Given the description of an element on the screen output the (x, y) to click on. 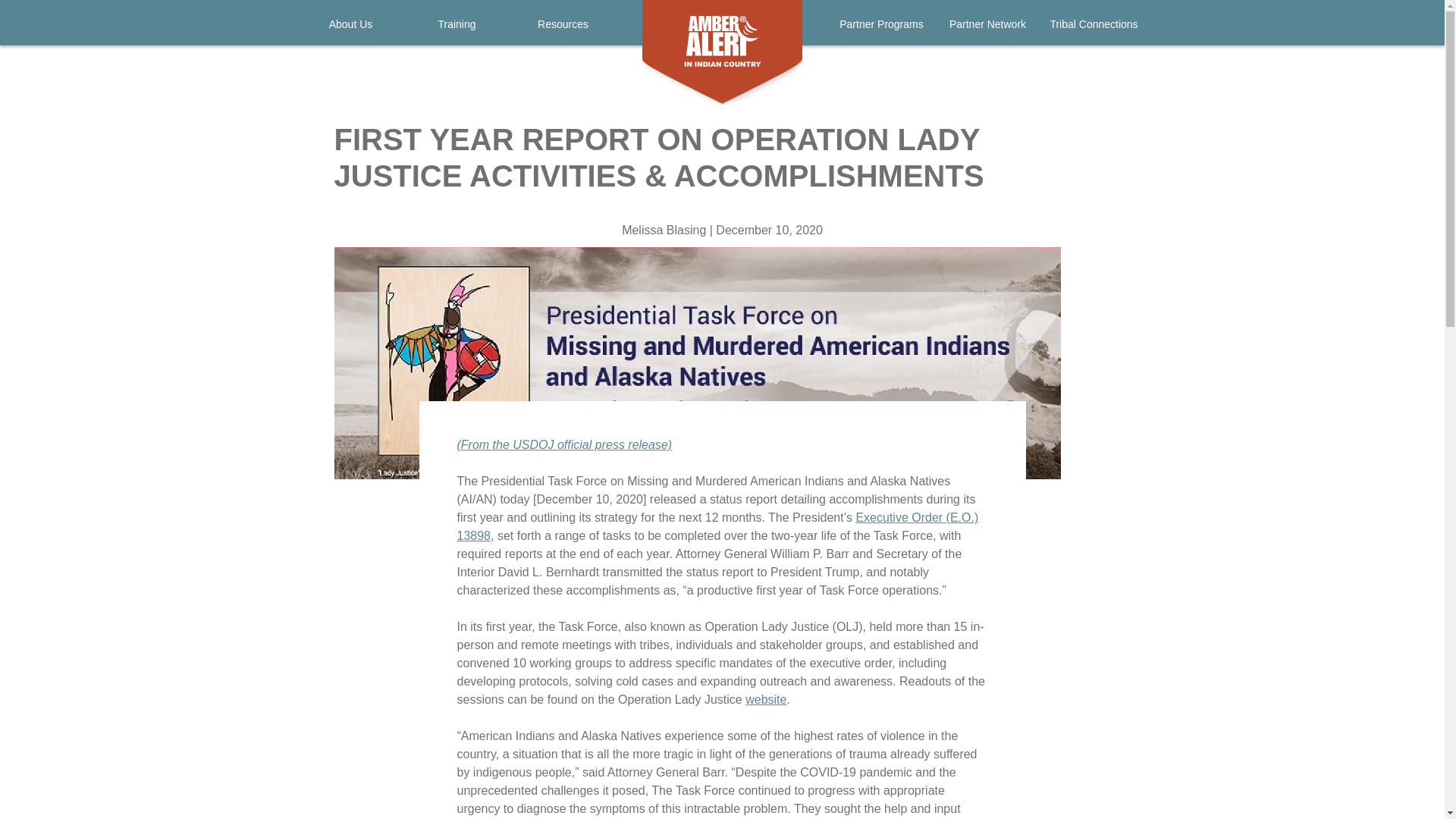
website (765, 698)
Training (456, 29)
Partner Network (987, 29)
Tribal Connections (1094, 29)
About Us (350, 29)
Partner Programs (881, 29)
Resources (562, 29)
